Given the description of an element on the screen output the (x, y) to click on. 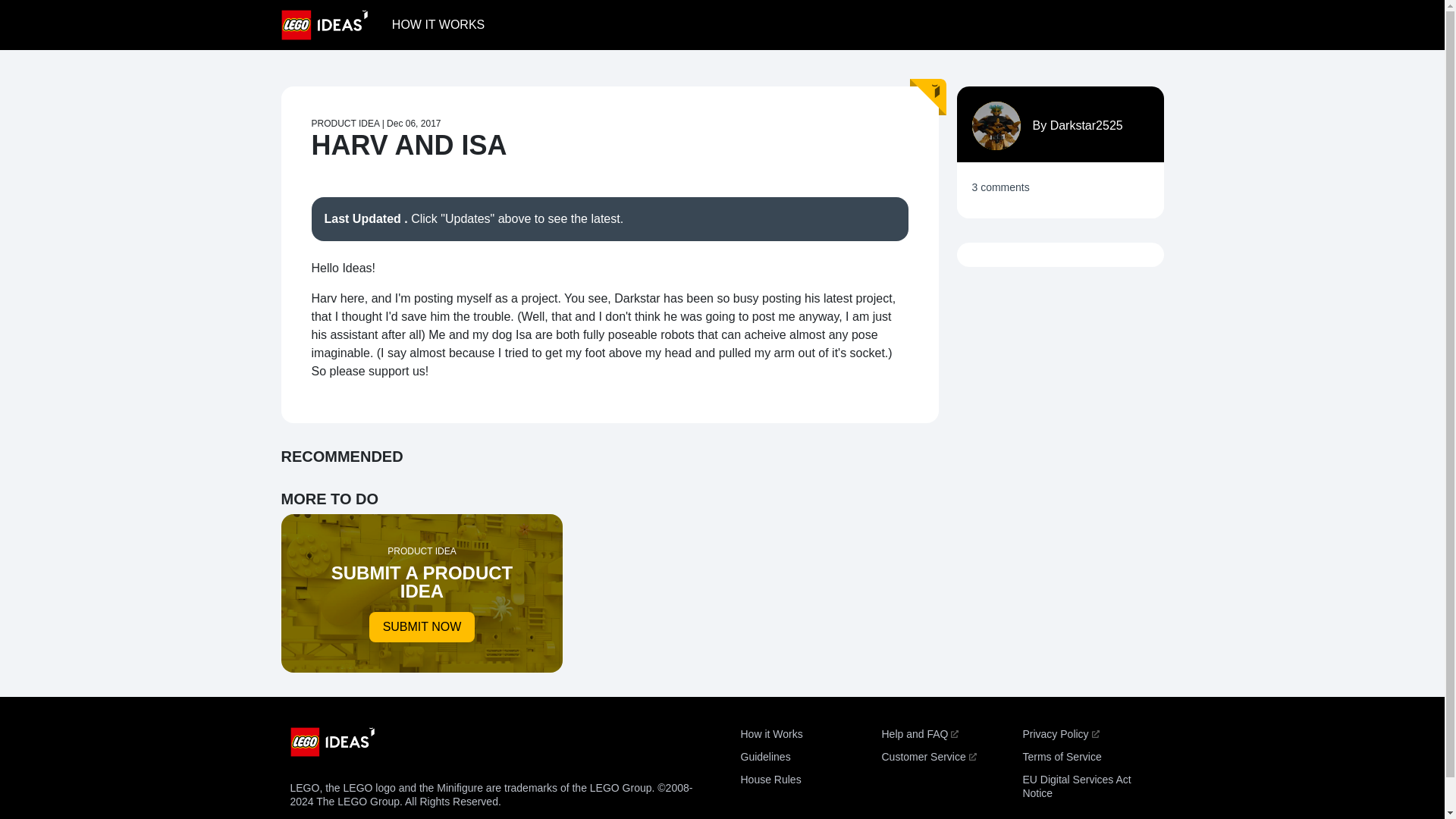
How it Works (770, 734)
Customer Service (927, 756)
Help and FAQ (919, 734)
Terms of Service (1061, 756)
Guidelines (764, 756)
Privacy Policy (1060, 734)
EU Digital Services Act Notice (1076, 786)
Last Updated . Click "Updates" above to see the latest. (609, 218)
House Rules (769, 779)
